Given the description of an element on the screen output the (x, y) to click on. 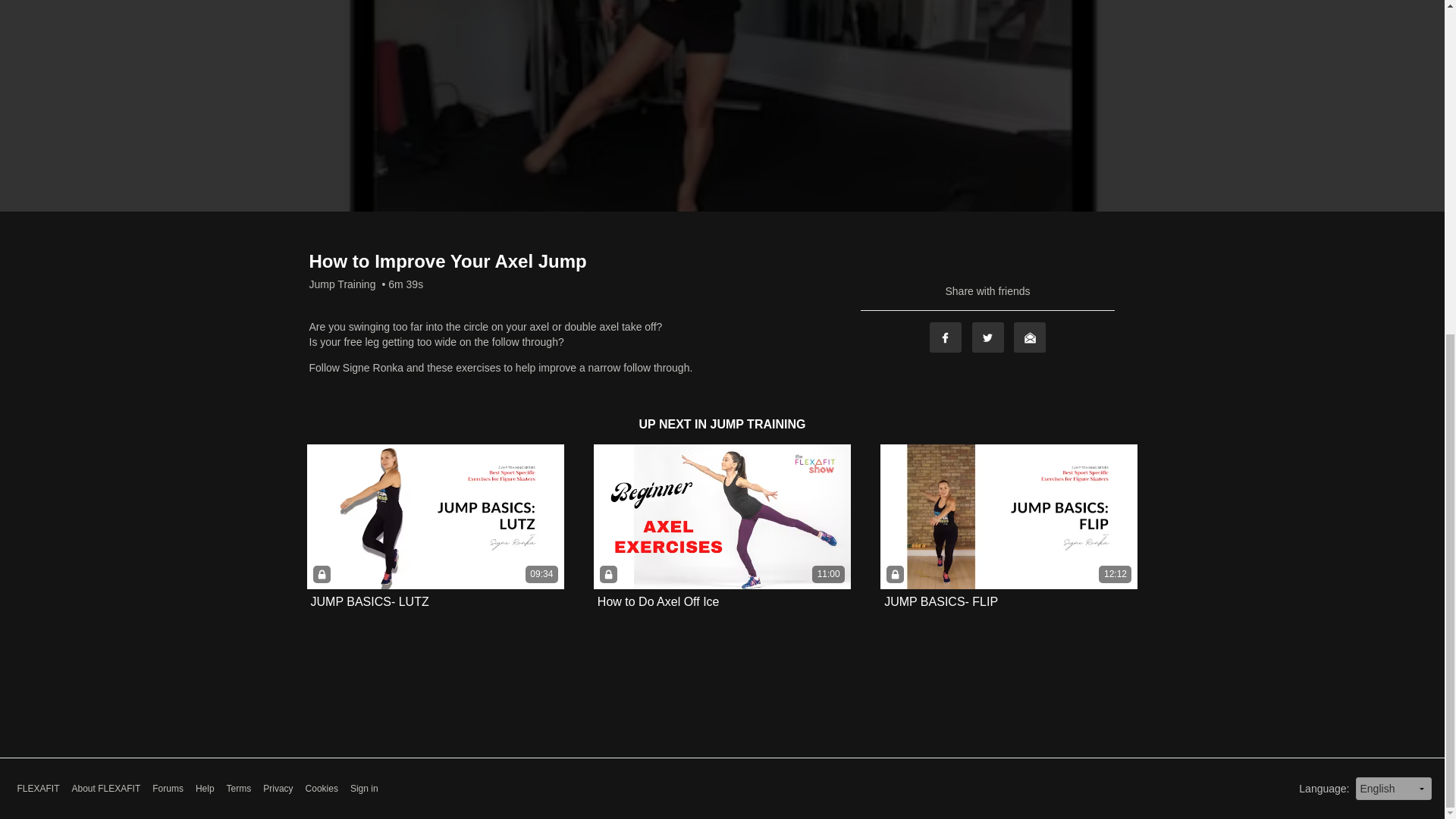
About FLEXAFIT (106, 788)
Help (204, 788)
Forums (167, 788)
FLEXAFIT (37, 788)
Twitter (988, 337)
11:00 (722, 516)
09:34 (434, 516)
JUMP BASICS- LUTZ (370, 601)
JUMP BASICS- FLIP (940, 601)
12:12 (1008, 516)
Email (1029, 337)
Cookies (321, 788)
Facebook (945, 337)
How to Do Axel Off Ice (657, 602)
Privacy (277, 788)
